Given the description of an element on the screen output the (x, y) to click on. 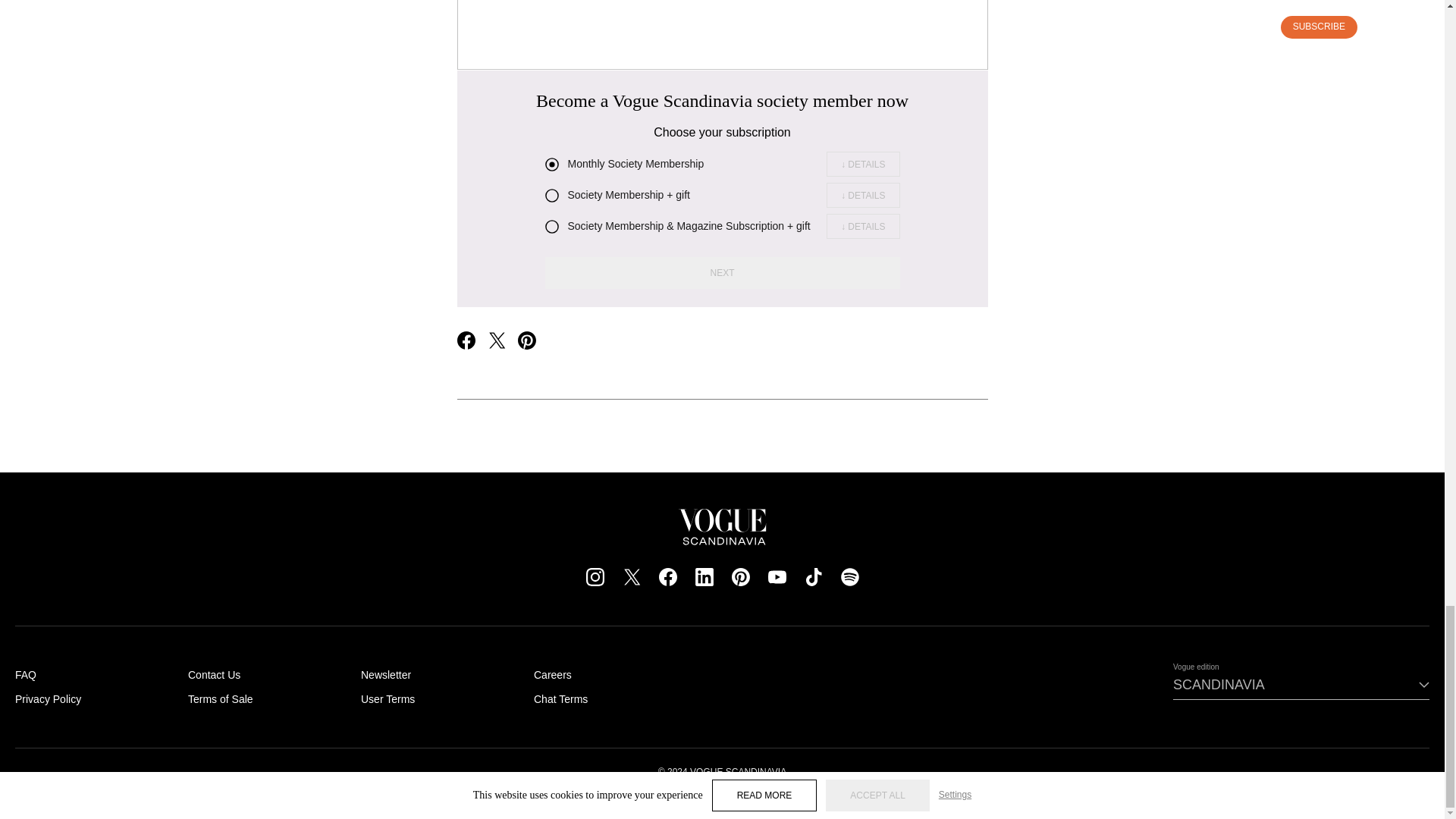
Terms of Sale (220, 698)
Careers (553, 674)
NEXT (721, 273)
User Terms (387, 698)
FAQ (25, 674)
Contact Us (213, 674)
Newsletter (385, 674)
Chat Terms (561, 698)
Privacy Policy (47, 698)
